Given the description of an element on the screen output the (x, y) to click on. 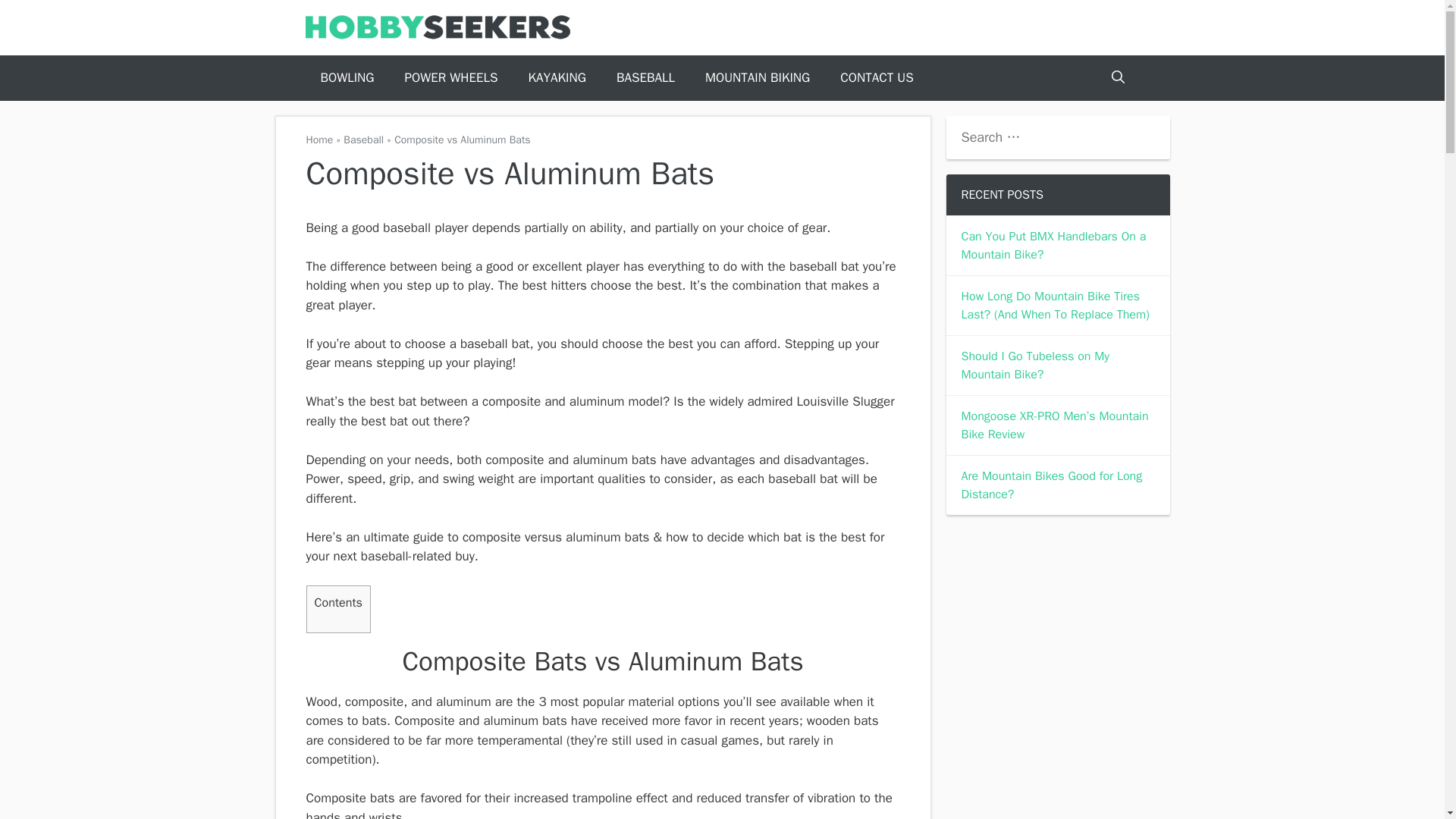
CONTACT US (876, 77)
MOUNTAIN BIKING (757, 77)
BASEBALL (645, 77)
BOWLING (346, 77)
Should I Go Tubeless on My Mountain Bike? (1034, 365)
Baseball (363, 139)
Home (319, 139)
Search (35, 18)
Are Mountain Bikes Good for Long Distance? (1051, 485)
Can You Put BMX Handlebars On a Mountain Bike? (1053, 245)
